Given the description of an element on the screen output the (x, y) to click on. 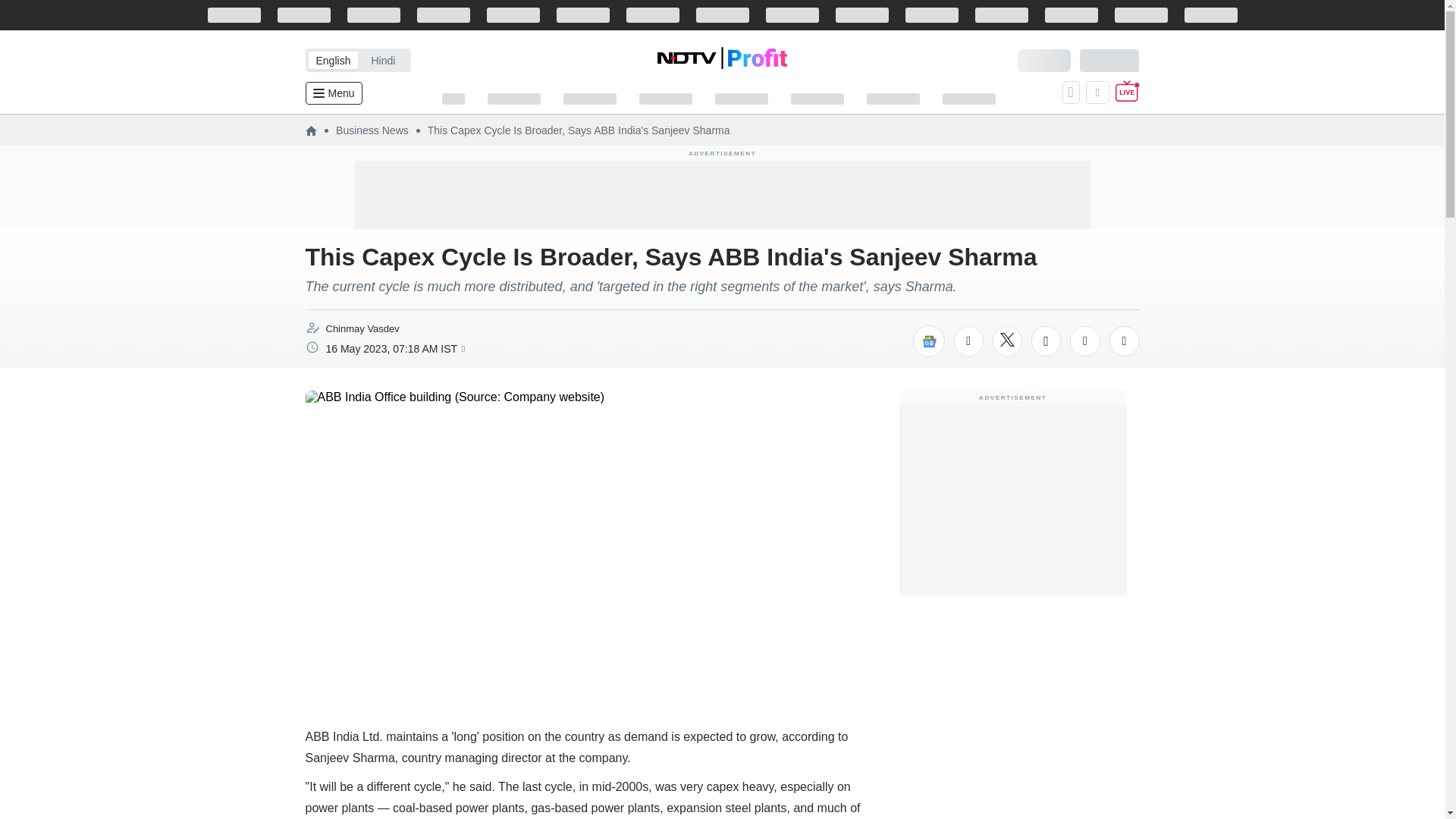
Hindi (382, 59)
English (332, 59)
Menu (332, 92)
Hindi (382, 59)
Live TV (1127, 92)
